Given the description of an element on the screen output the (x, y) to click on. 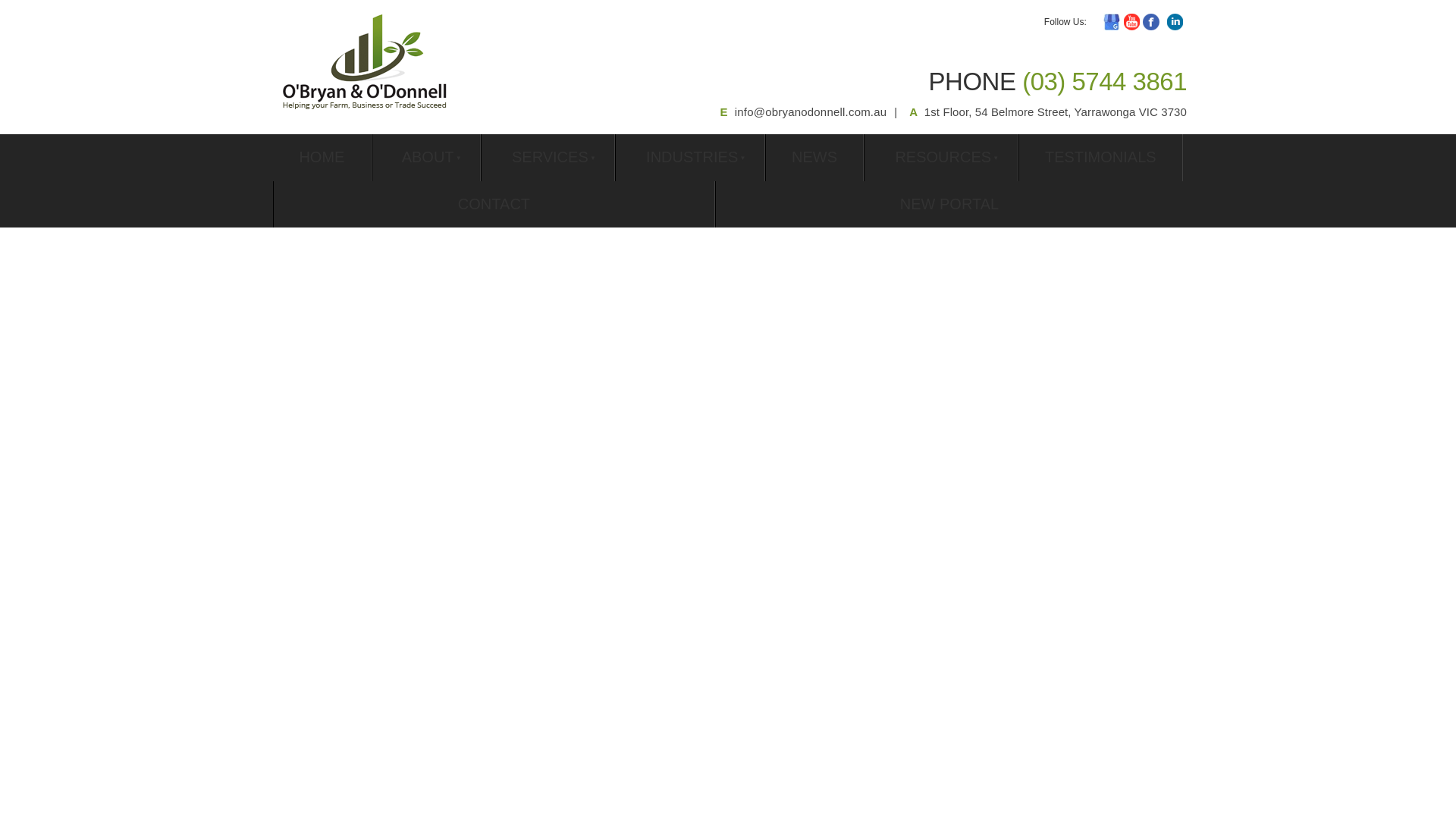
ABOUT (426, 157)
HOME (322, 157)
INDUSTRIES (689, 157)
SERVICES (547, 157)
